Given the description of an element on the screen output the (x, y) to click on. 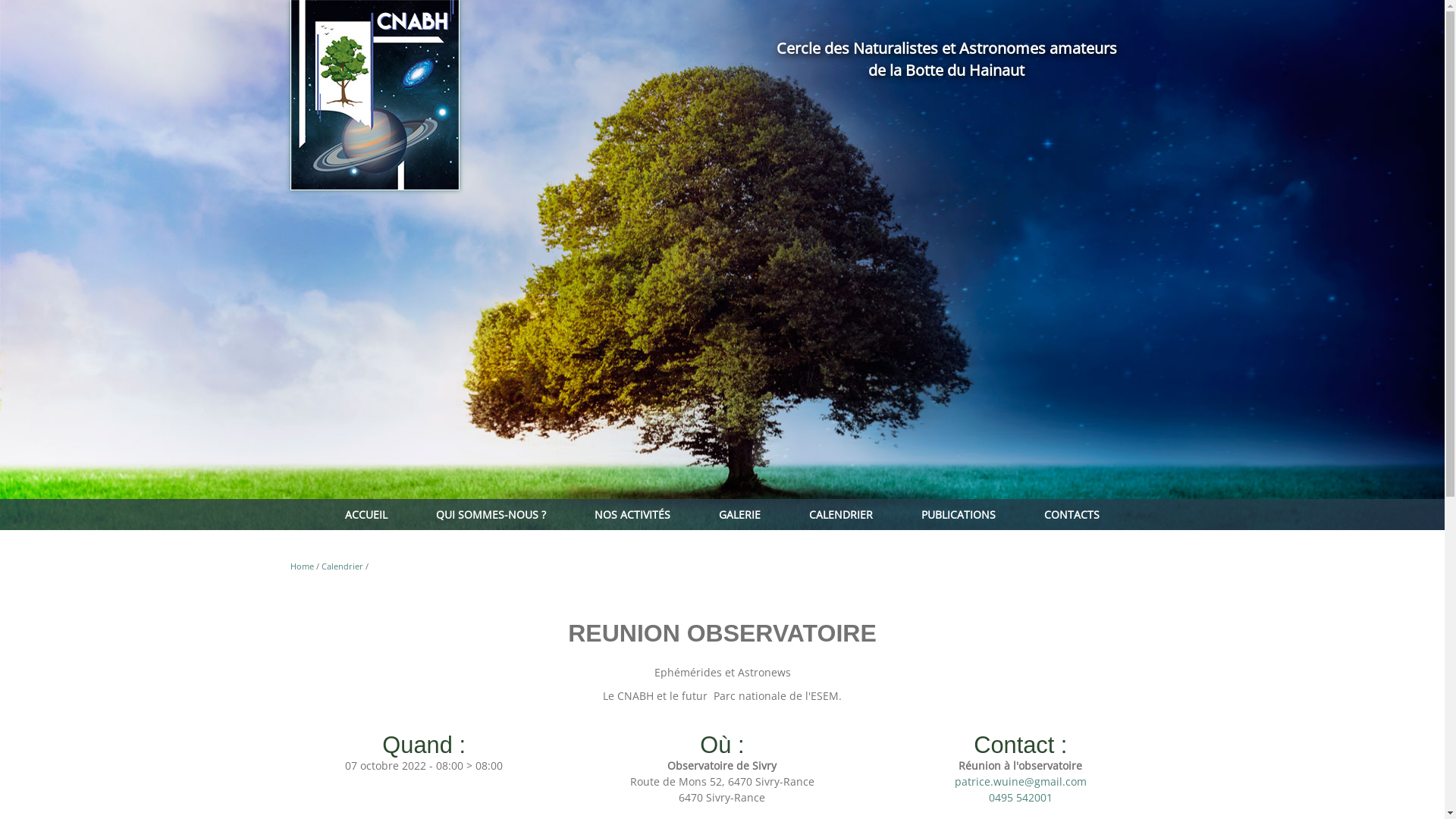
CONTACTS Element type: text (1071, 514)
CALENDRIER Element type: text (840, 514)
Home Element type: text (301, 565)
Calendrier Element type: text (342, 565)
0495 542001 Element type: text (1020, 797)
QUI SOMMES-NOUS ? Element type: text (491, 514)
GALERIE Element type: text (739, 514)
patrice.wuine@gmail.com Element type: text (1020, 781)
PUBLICATIONS Element type: text (958, 514)
ACCUEIL Element type: text (366, 514)
